Given the description of an element on the screen output the (x, y) to click on. 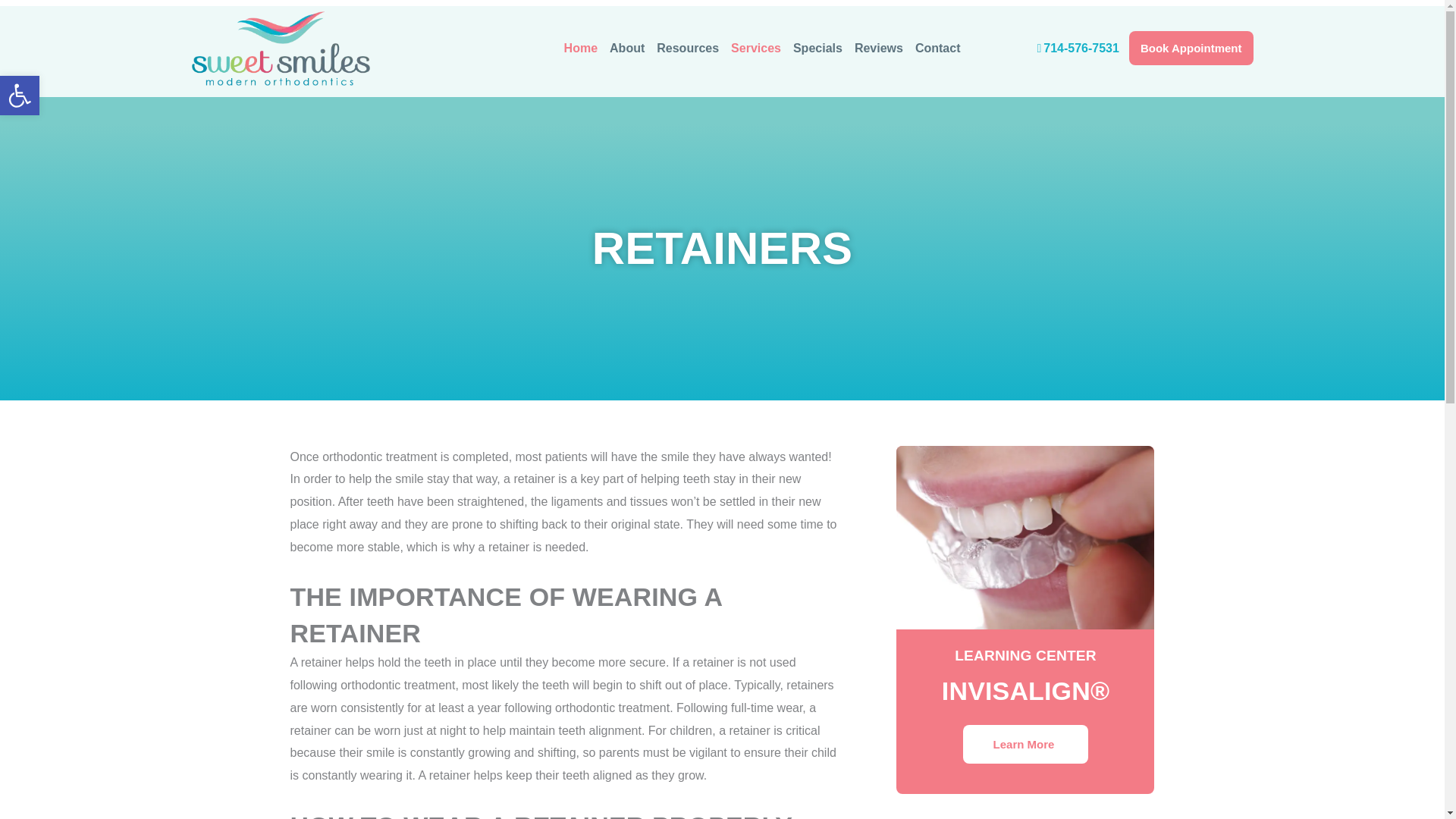
Accessibility Tools (19, 95)
Services (756, 48)
About (627, 48)
Book Appointment (19, 95)
Reviews (1191, 48)
Home (878, 48)
Contact (580, 48)
714-576-7531 (937, 48)
Resources (1077, 48)
Accessibility Tools (687, 48)
Specials (19, 95)
